Given the description of an element on the screen output the (x, y) to click on. 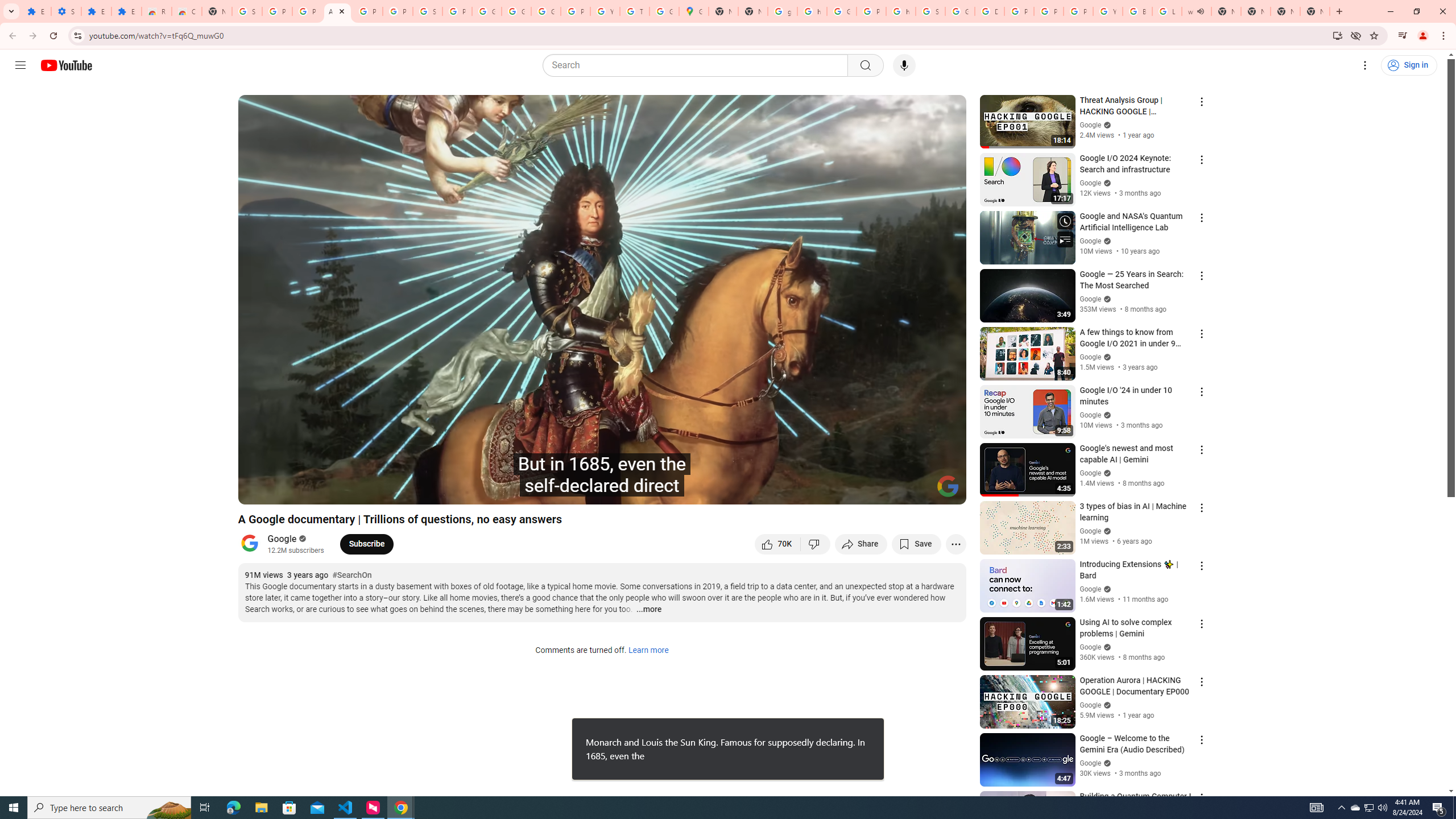
YouTube (604, 11)
Share (861, 543)
New Tab (216, 11)
#SearchOn (351, 575)
Control your music, videos, and more (1402, 35)
View site information (77, 35)
Mute tab (1200, 10)
Save to playlist (915, 543)
Seek slider (601, 476)
Extensions (36, 11)
